Given the description of an element on the screen output the (x, y) to click on. 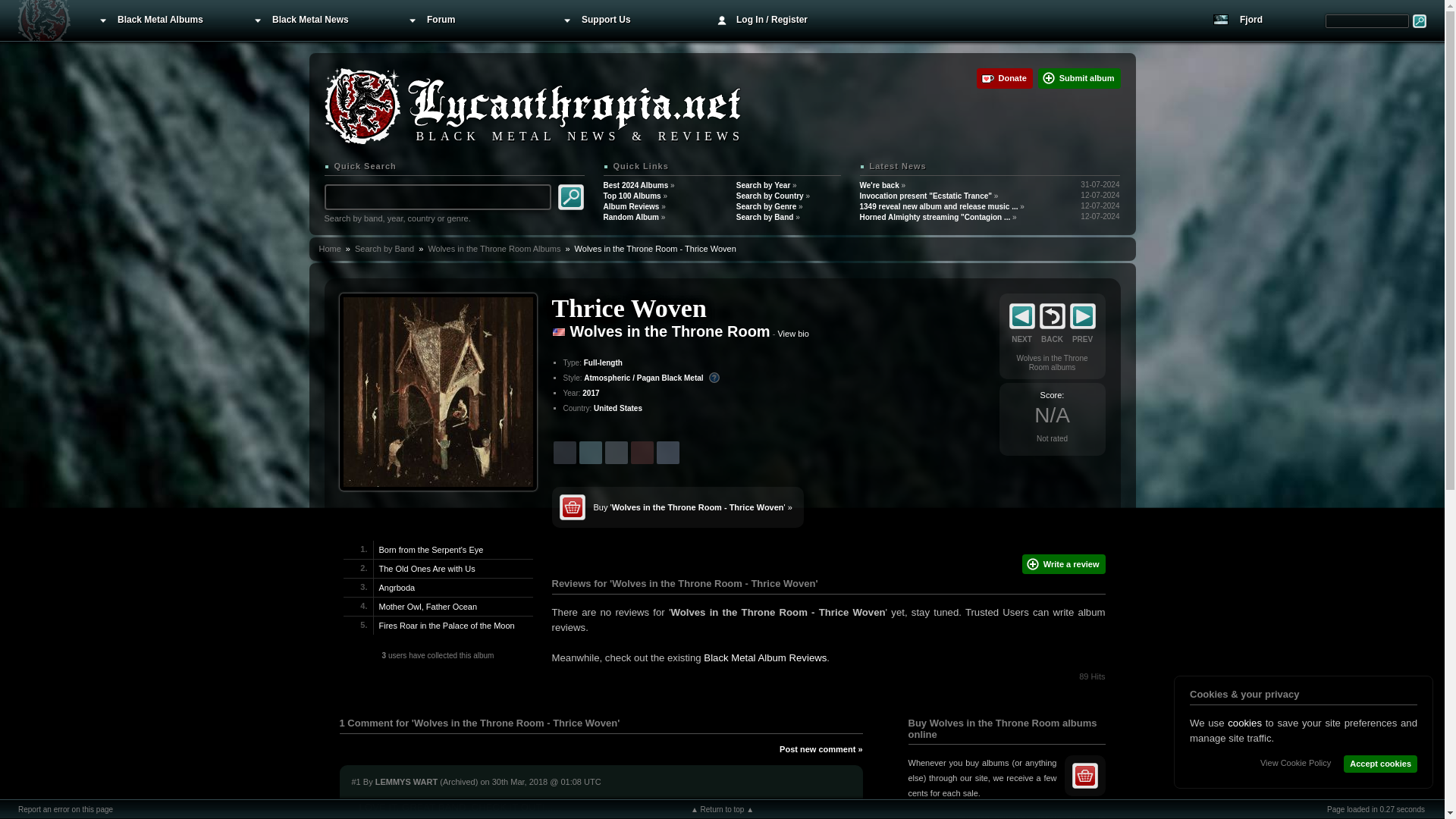
Forum (473, 20)
Support Us (628, 20)
Black Metal News (318, 20)
Accept cookies (1379, 764)
Black Metal Albums (164, 20)
Black Metal Albums (164, 20)
